Given the description of an element on the screen output the (x, y) to click on. 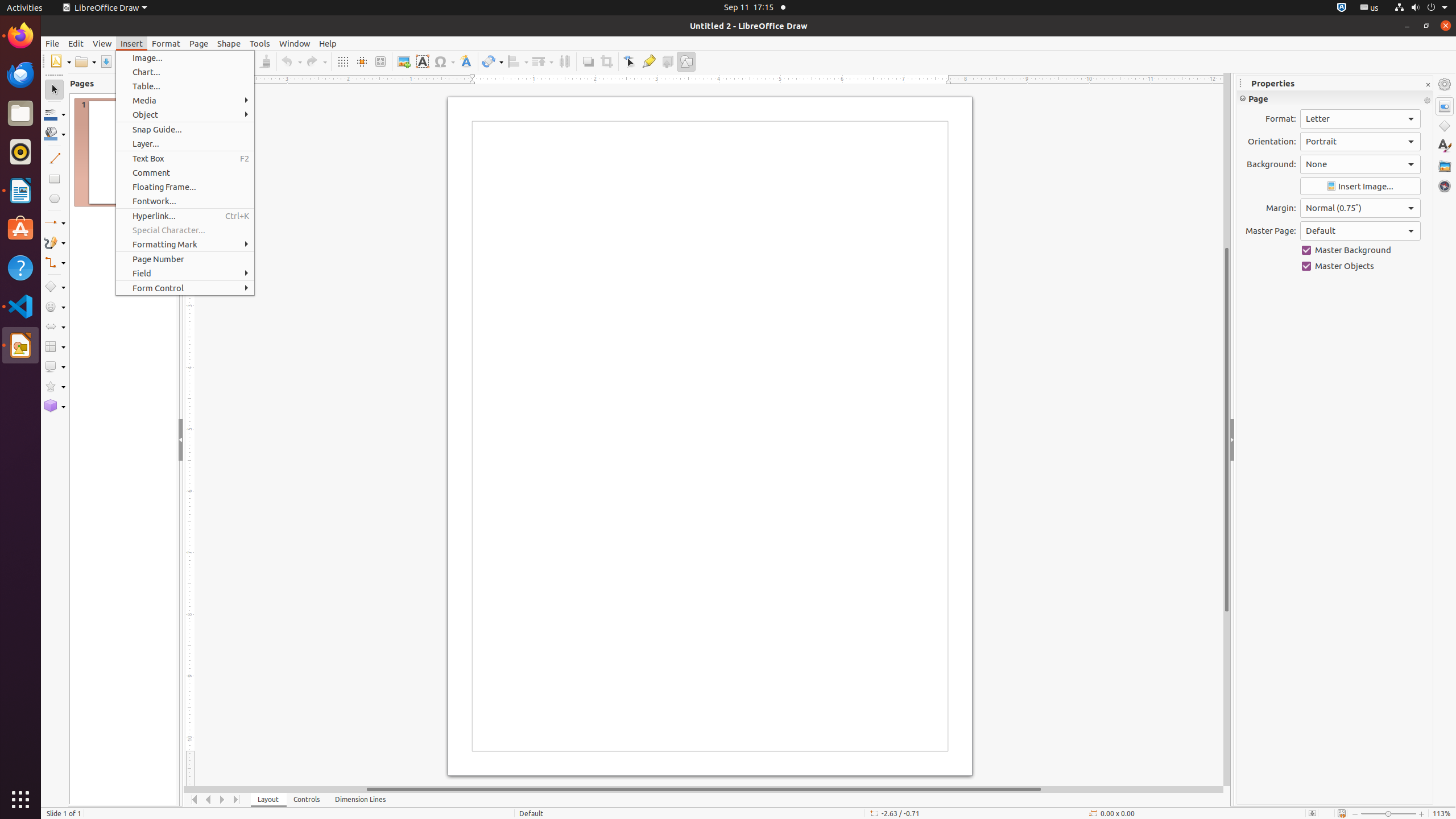
Format: Element type: combo-box (1360, 118)
Zoom & Pan Element type: push-button (379, 61)
Navigator Element type: radio-button (1444, 185)
Line Color Element type: push-button (54, 113)
Redo Element type: push-button (315, 61)
